Given the description of an element on the screen output the (x, y) to click on. 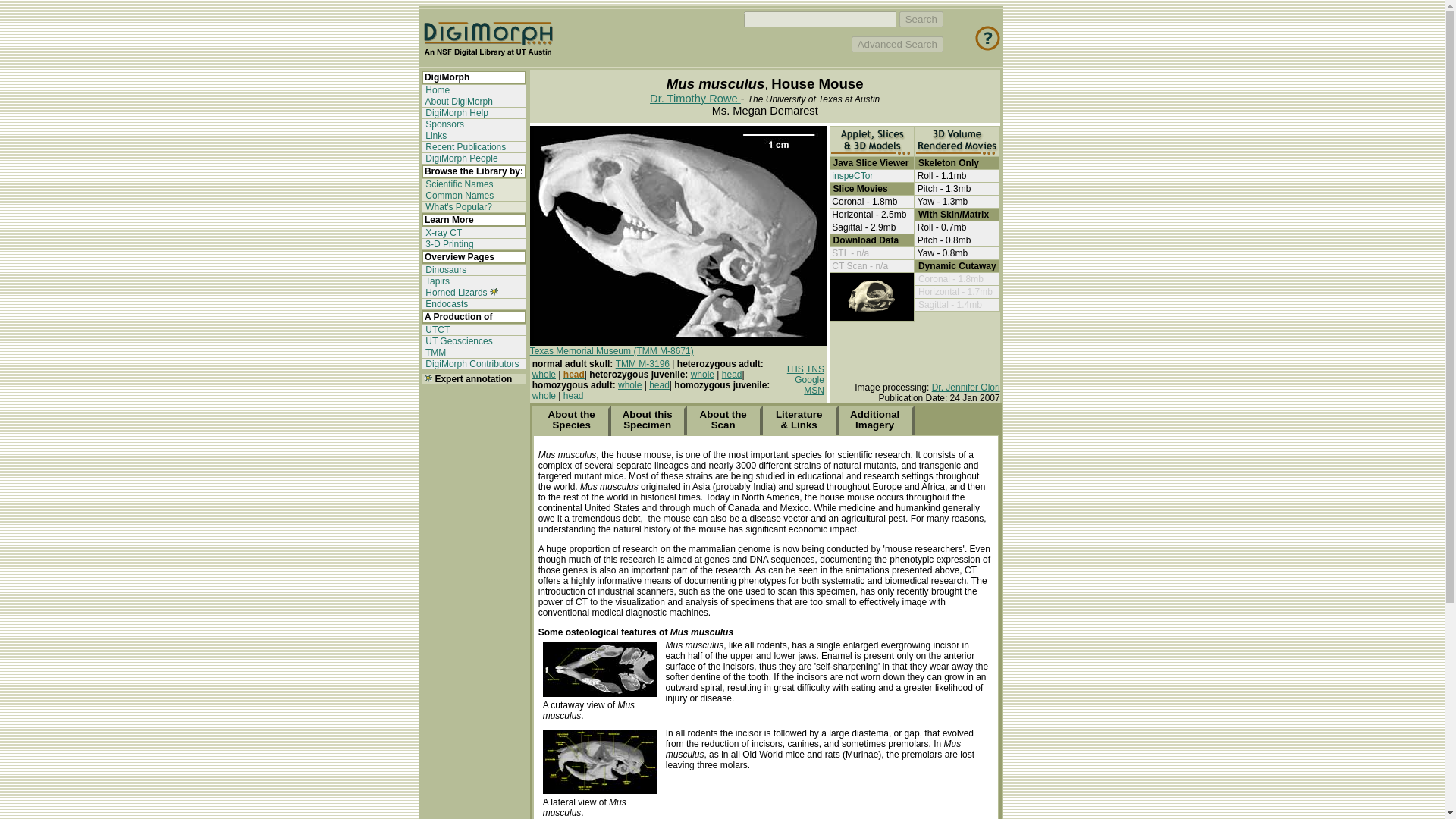
Dr. Timothy Rowe (695, 98)
 Scientific Names (458, 184)
 Home (436, 90)
Coronal - 1.8mb (863, 201)
 Recent Publications (464, 146)
 Dinosaurs (444, 269)
 UT Geosciences (458, 340)
 Links (434, 135)
Horizontal - 2.5mb (868, 214)
Yaw - 0.8mb (942, 253)
Roll - 1.1mb (941, 175)
 Endocasts (445, 303)
 UTCT (436, 329)
 About DigiMorph (458, 101)
 Horned Lizards (455, 292)
